Given the description of an element on the screen output the (x, y) to click on. 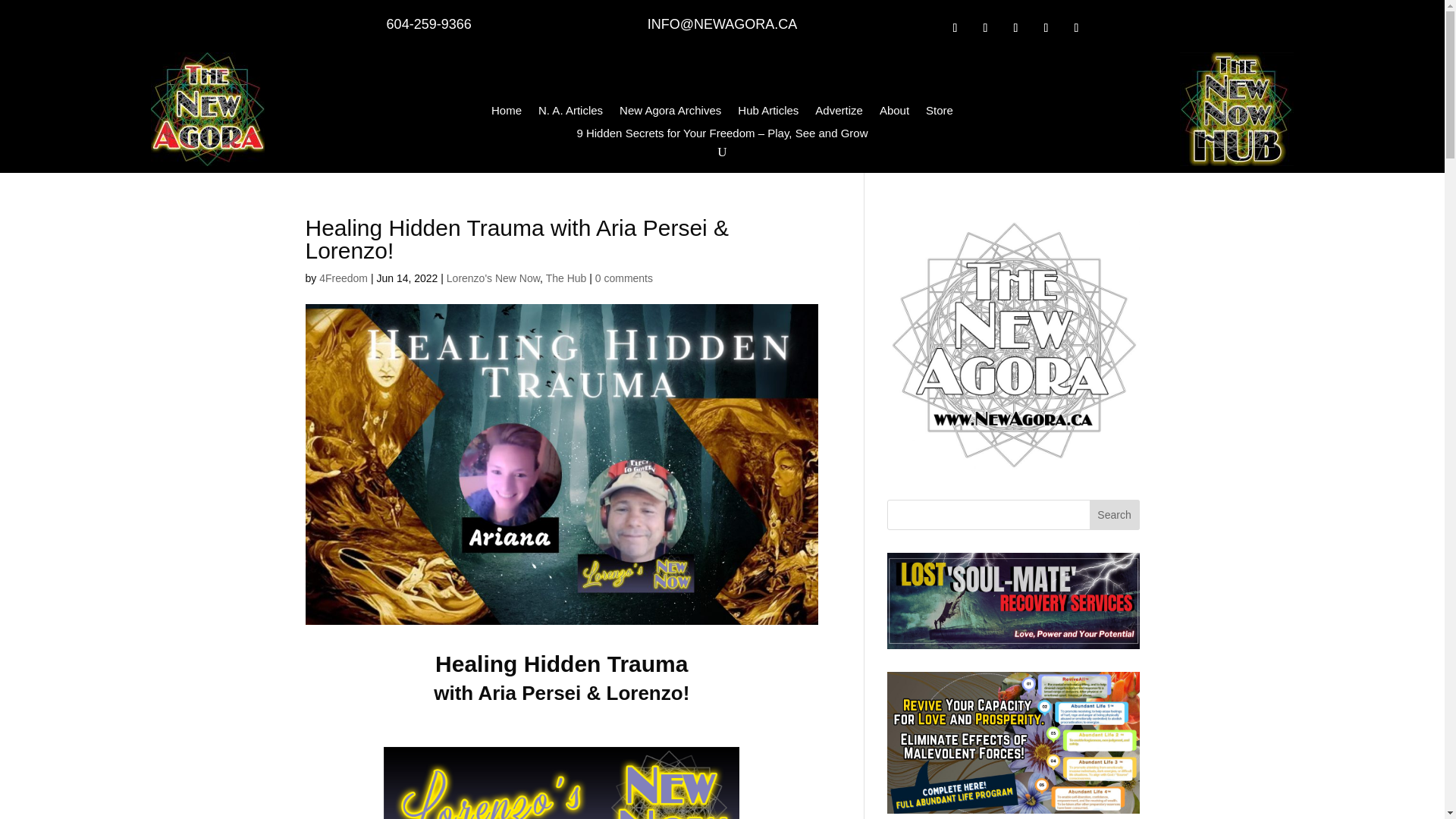
Search (1114, 514)
N. A. Articles (570, 113)
Follow on Facebook (954, 27)
Follow on Instagram (1015, 27)
New Agora Archives (670, 113)
Hub Articles (767, 113)
Follow on RSS (1075, 27)
New Agora Home (207, 109)
Home (506, 113)
Call us anytime (429, 23)
